Given the description of an element on the screen output the (x, y) to click on. 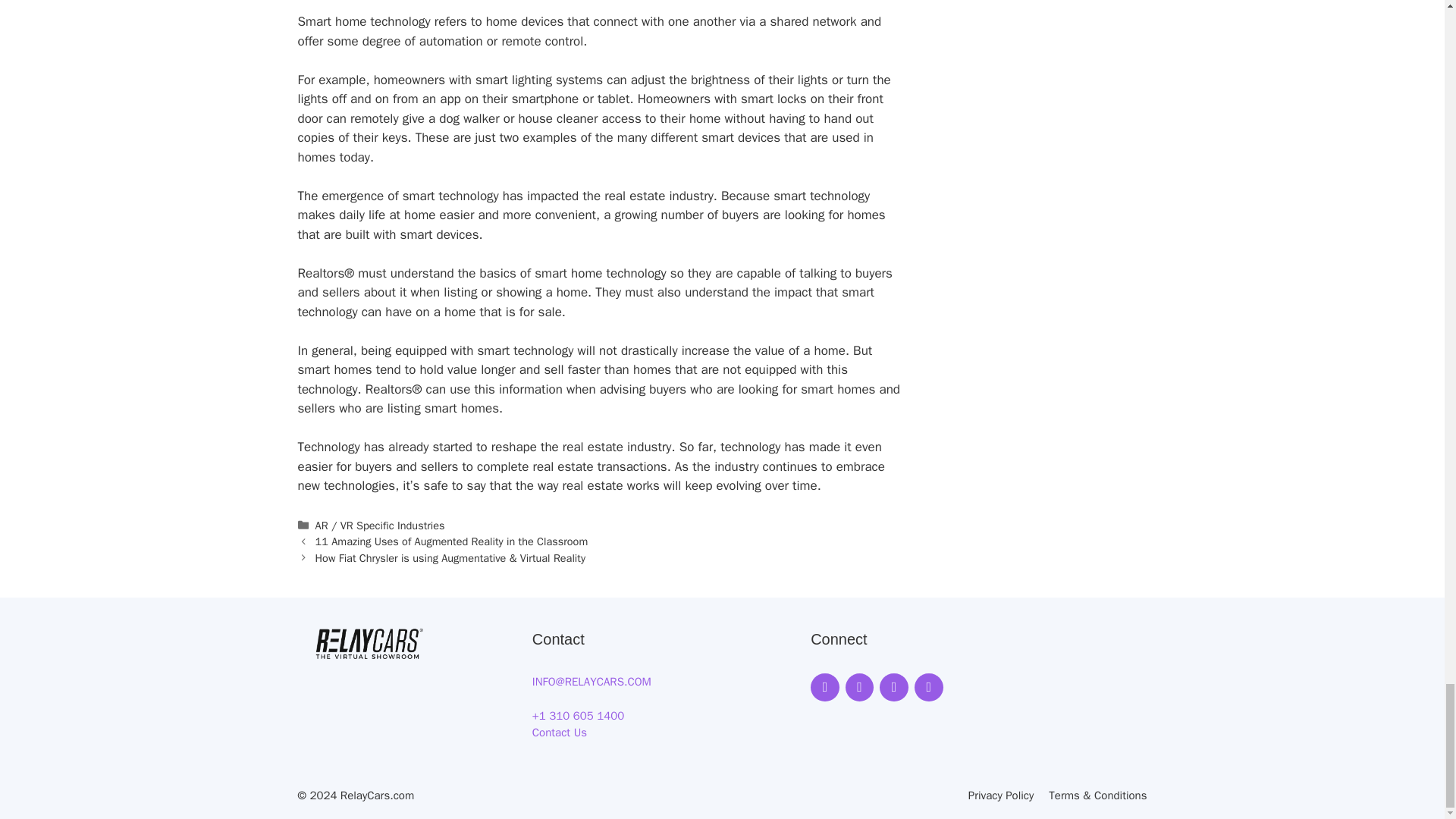
11 Amazing Uses of Augmented Reality in the Classroom (451, 540)
Instagram (860, 687)
Facebook (825, 687)
LinkedIn (928, 687)
Contact Us (559, 732)
Twitter (893, 687)
smart homes (334, 369)
